Given the description of an element on the screen output the (x, y) to click on. 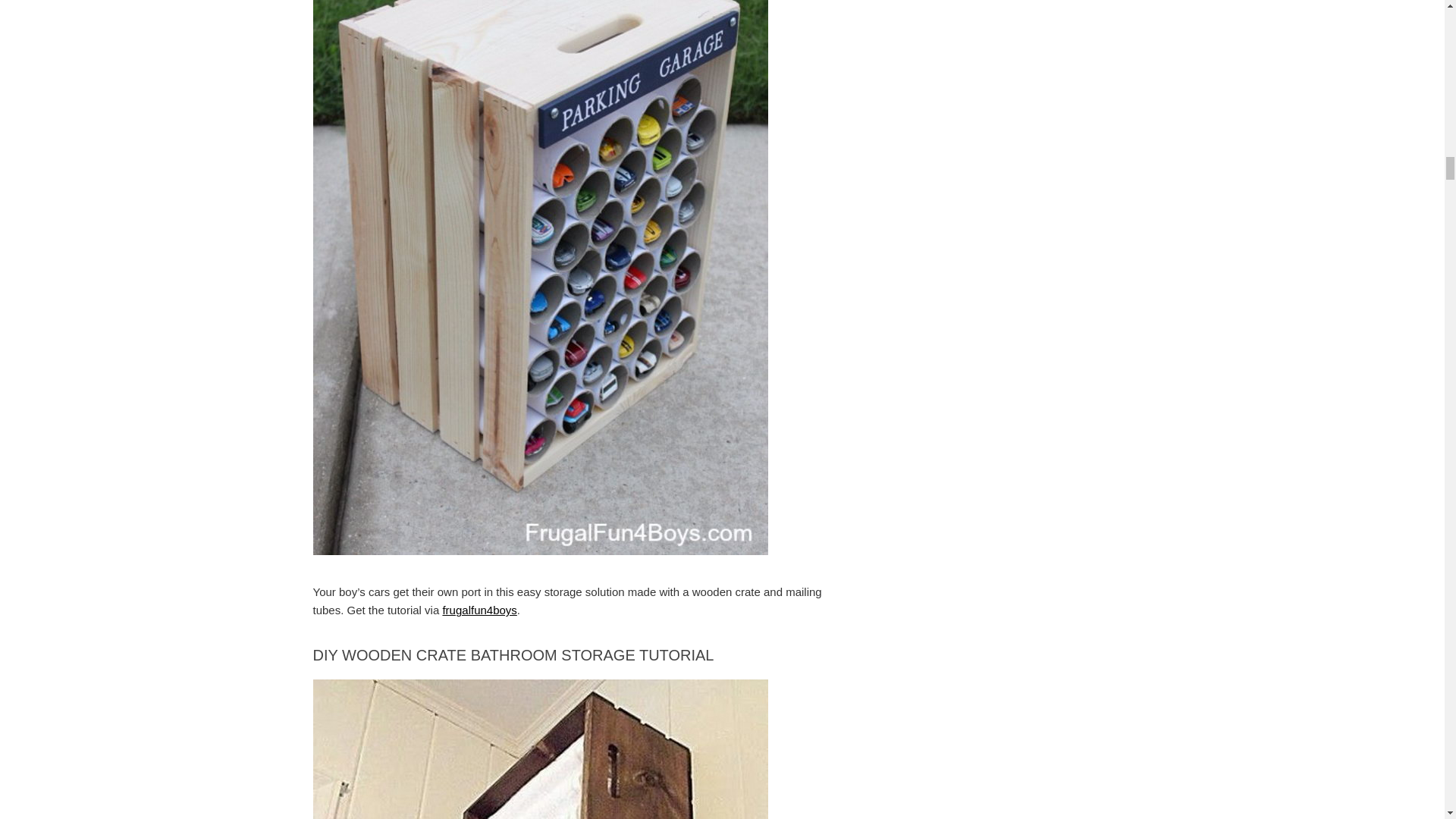
frugalfun4boys (479, 609)
